Given the description of an element on the screen output the (x, y) to click on. 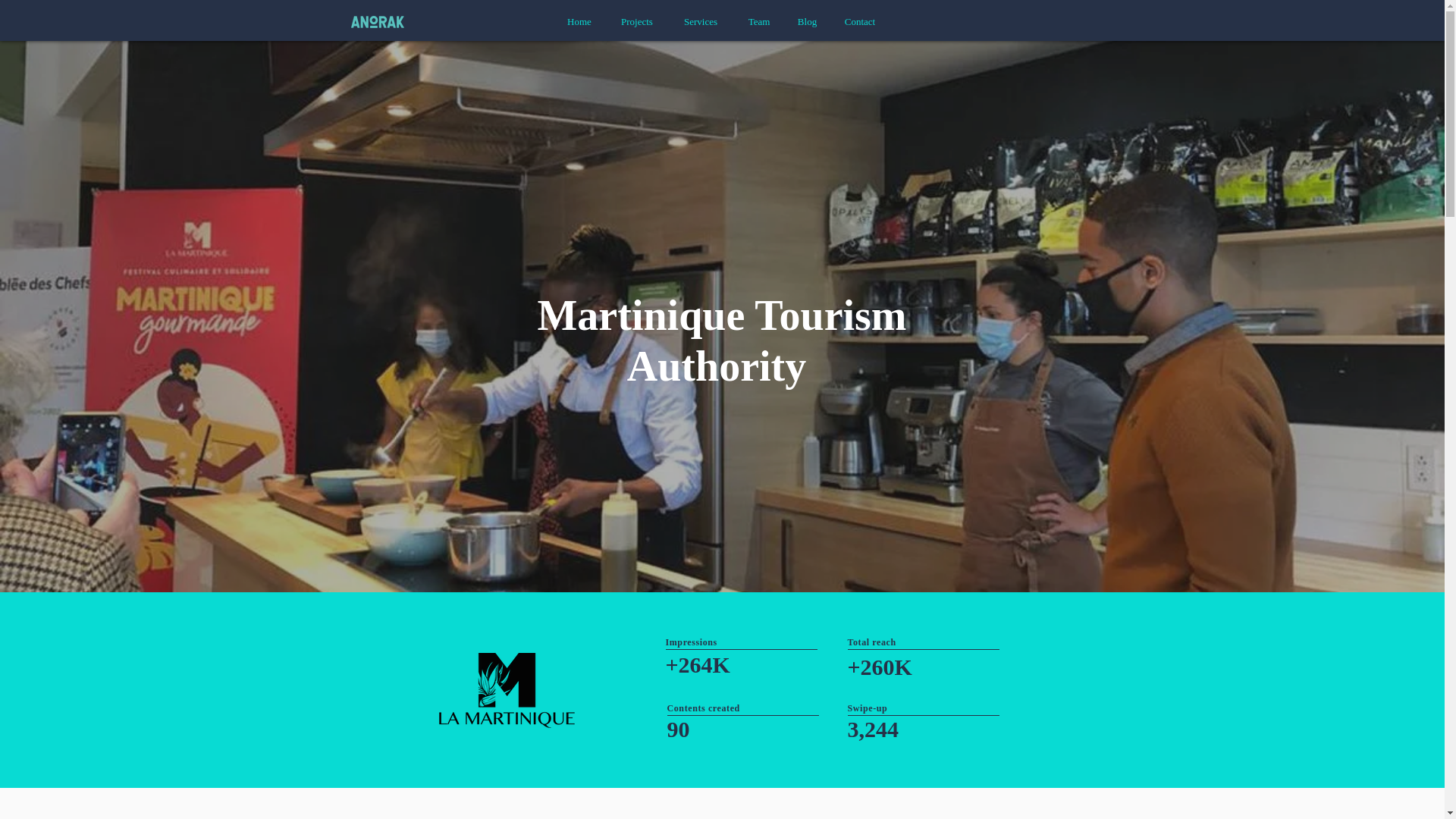
Logo Anorak (376, 21)
Services (700, 21)
Contact (859, 21)
Home (579, 21)
Team (758, 21)
Blog (806, 21)
Projects (636, 21)
